Given the description of an element on the screen output the (x, y) to click on. 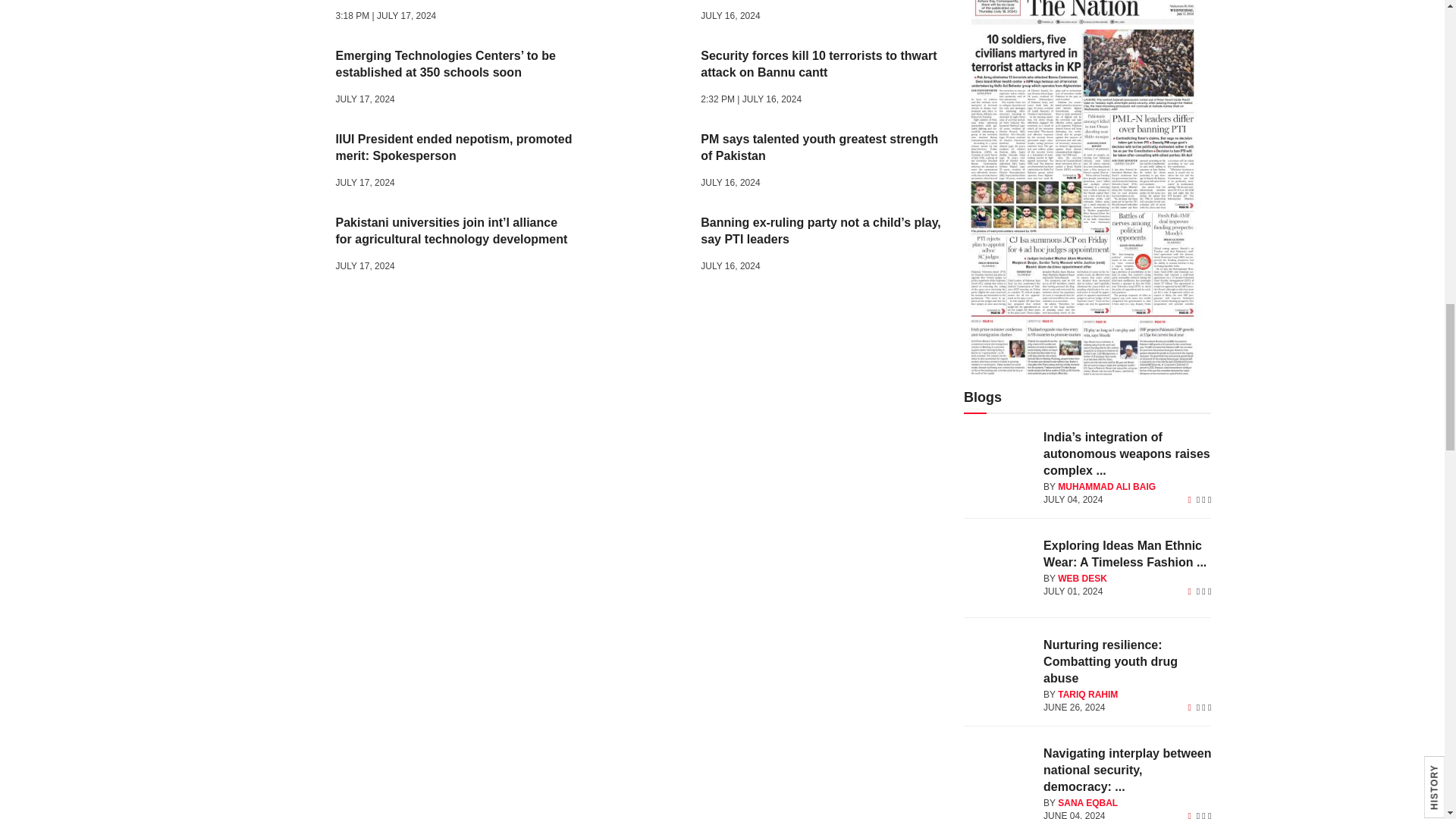
PM says talented youth greatest strength of Pakistan (643, 163)
IIUI President ended nepotism, promoted merit: Spokesperson (278, 163)
Ban on PTI to damage democracy, fear political parties (643, 14)
